Given the description of an element on the screen output the (x, y) to click on. 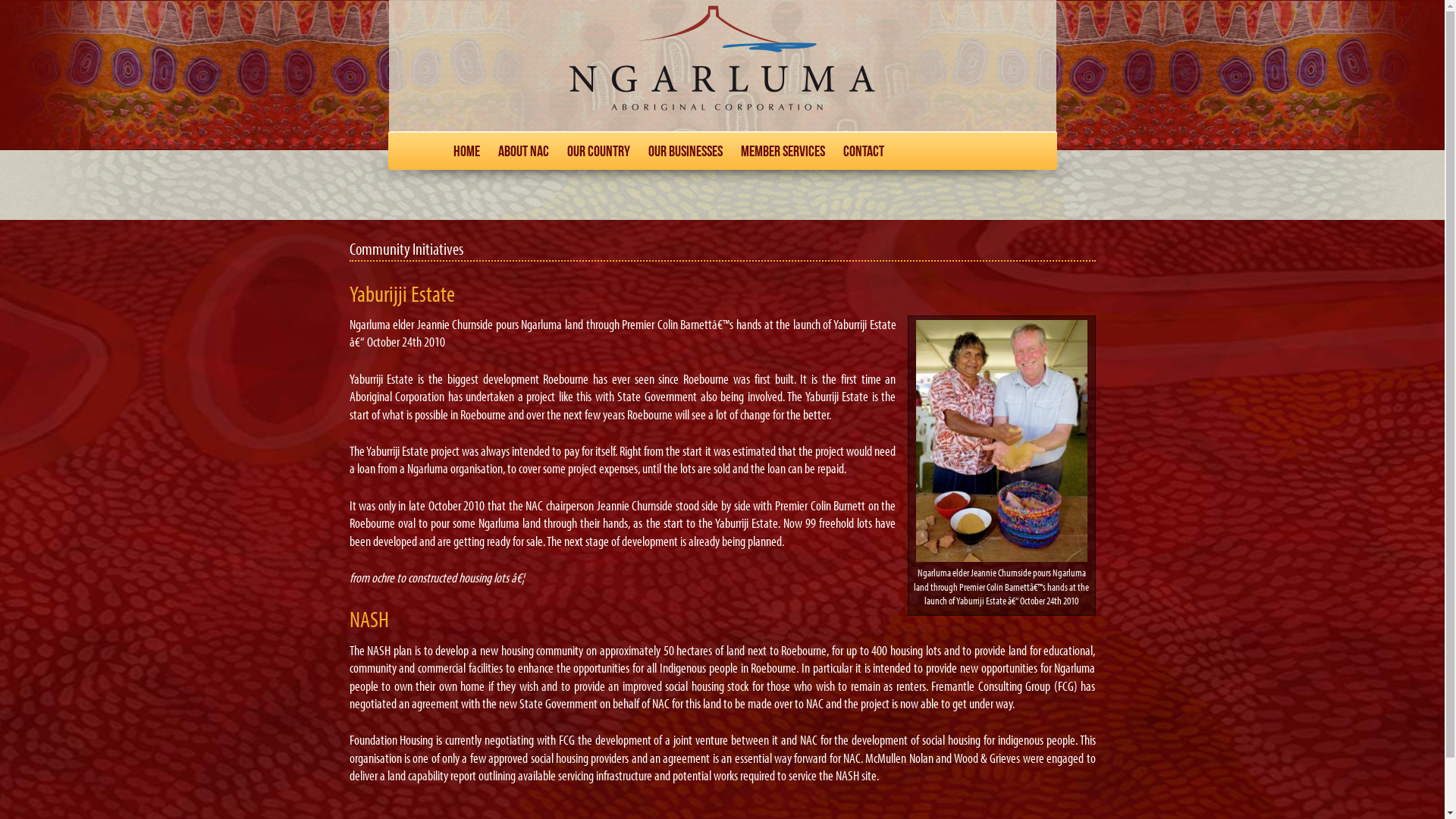
HOME Element type: text (466, 150)
NGARLUMA ABORIGINAL CORPORATION Element type: text (721, 65)
CONTACT Element type: text (863, 150)
